Given the description of an element on the screen output the (x, y) to click on. 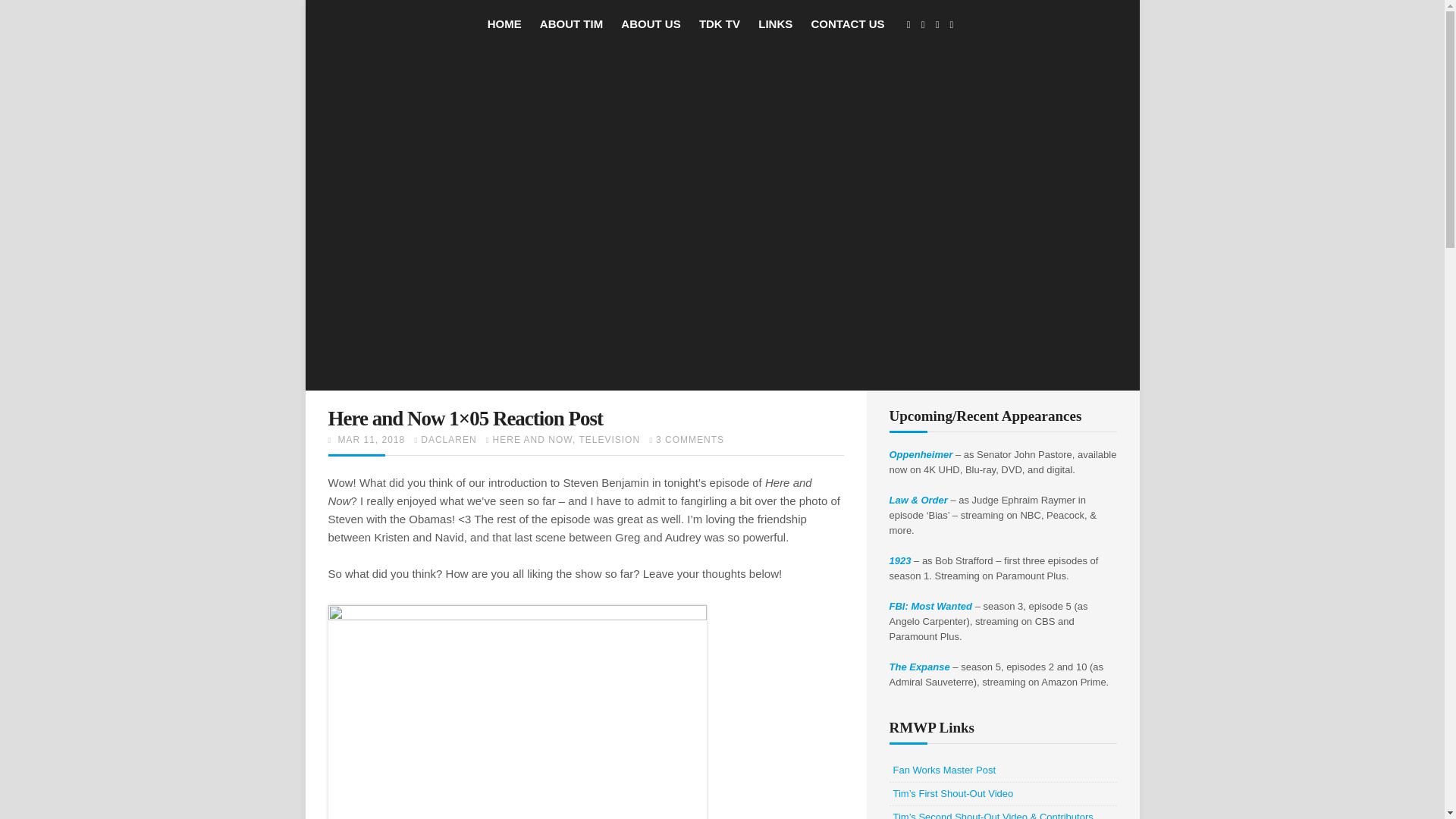
ABOUT US (650, 23)
Oppenheimer (921, 454)
1923 (901, 560)
FBI: Most Wanted (931, 605)
LINKS (775, 23)
DACLAREN (448, 439)
CONTACT US (846, 23)
HOME (504, 23)
TELEVISION (609, 439)
ABOUT TIM (571, 23)
TDK TV (718, 23)
The Expanse (920, 666)
Fan Works Master Post (944, 769)
HERE AND NOW (532, 439)
